Given the description of an element on the screen output the (x, y) to click on. 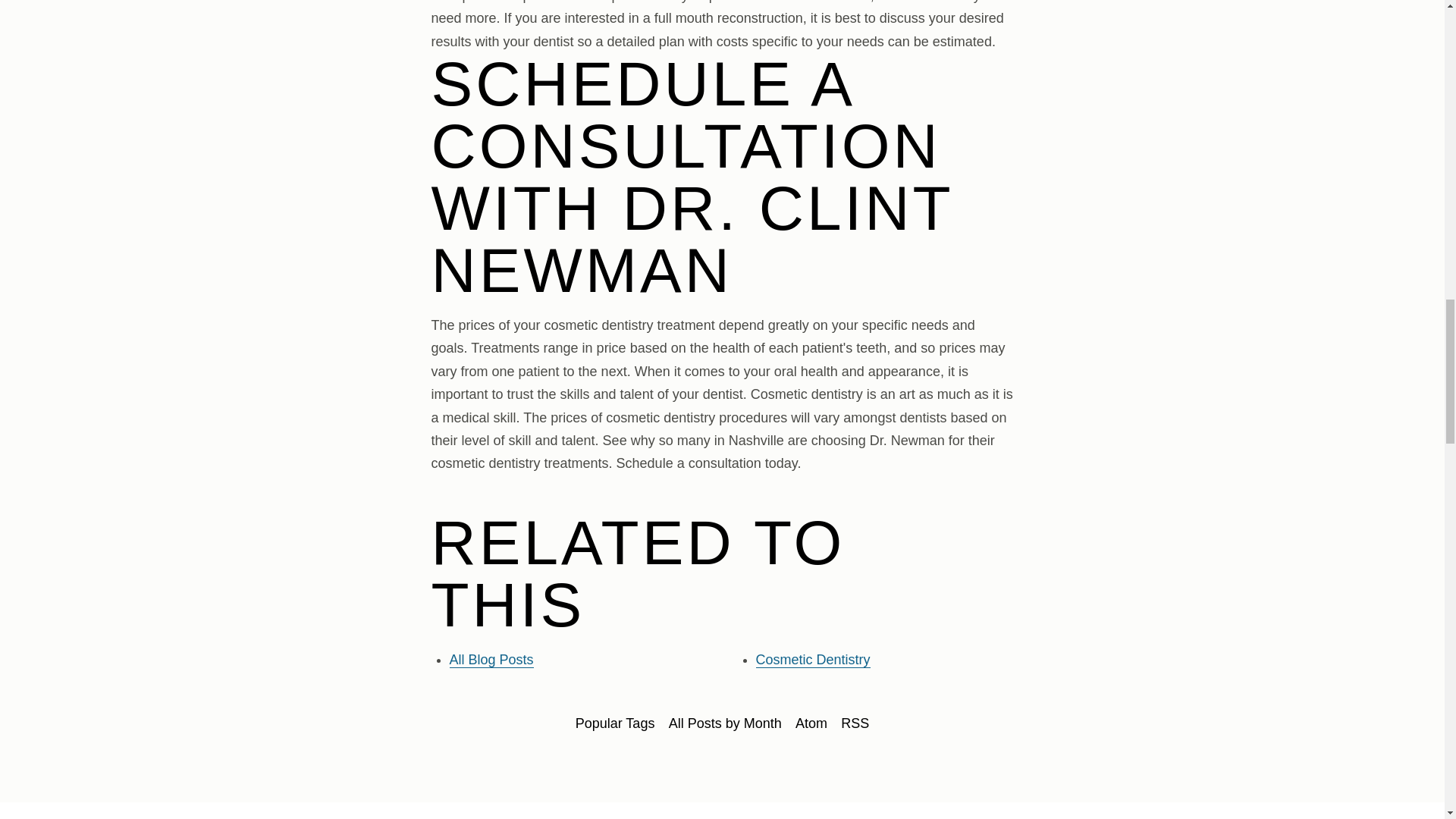
All Posts by Month (725, 723)
Cosmetic Dentistry (812, 659)
Popular Tags (615, 723)
All Blog Posts (490, 659)
Atom (811, 723)
RSS (855, 723)
